Given the description of an element on the screen output the (x, y) to click on. 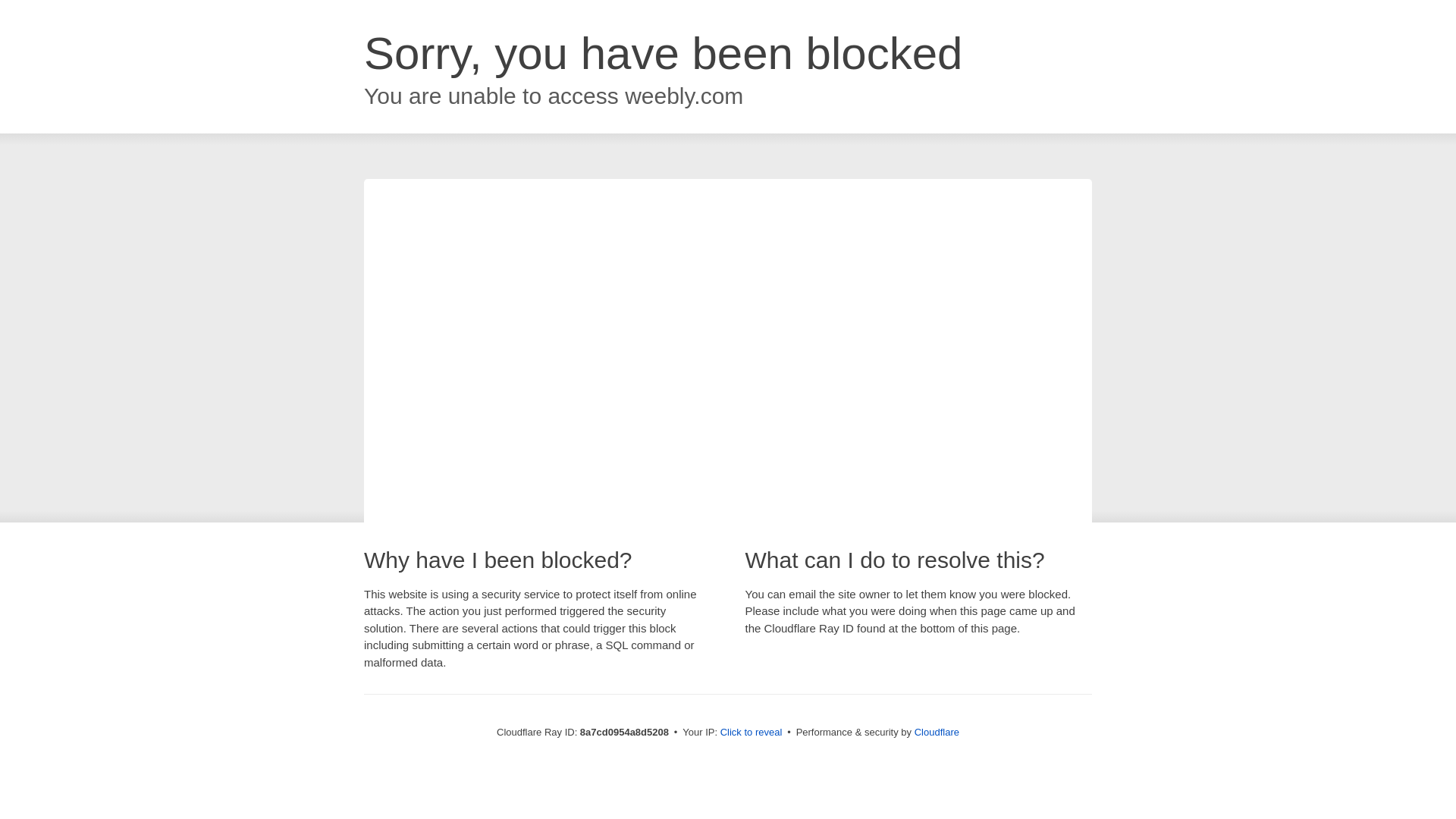
Click to reveal (751, 732)
Cloudflare (936, 731)
